Given the description of an element on the screen output the (x, y) to click on. 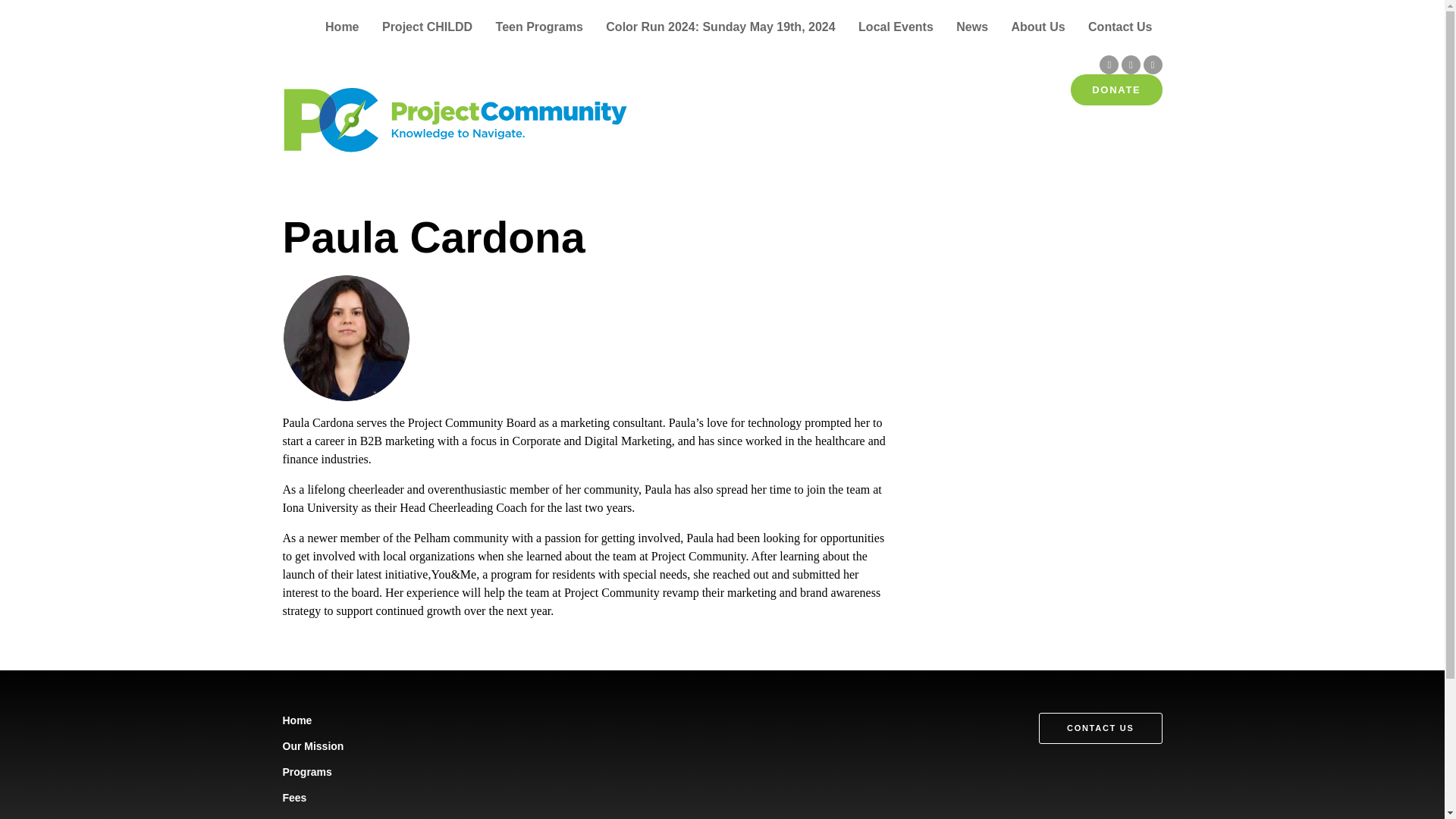
Local Events (314, 818)
Home (341, 26)
Our Mission (312, 746)
Teen Programs (539, 26)
CONTACT US (1100, 727)
Project CHILDD (426, 26)
Programs (306, 771)
Home (296, 720)
About Us (1037, 26)
Contact Us (1119, 26)
Fees (293, 797)
Local Events (896, 26)
DONATE (1115, 89)
News (972, 26)
Color Run 2024: Sunday May 19th, 2024 (719, 26)
